Given the description of an element on the screen output the (x, y) to click on. 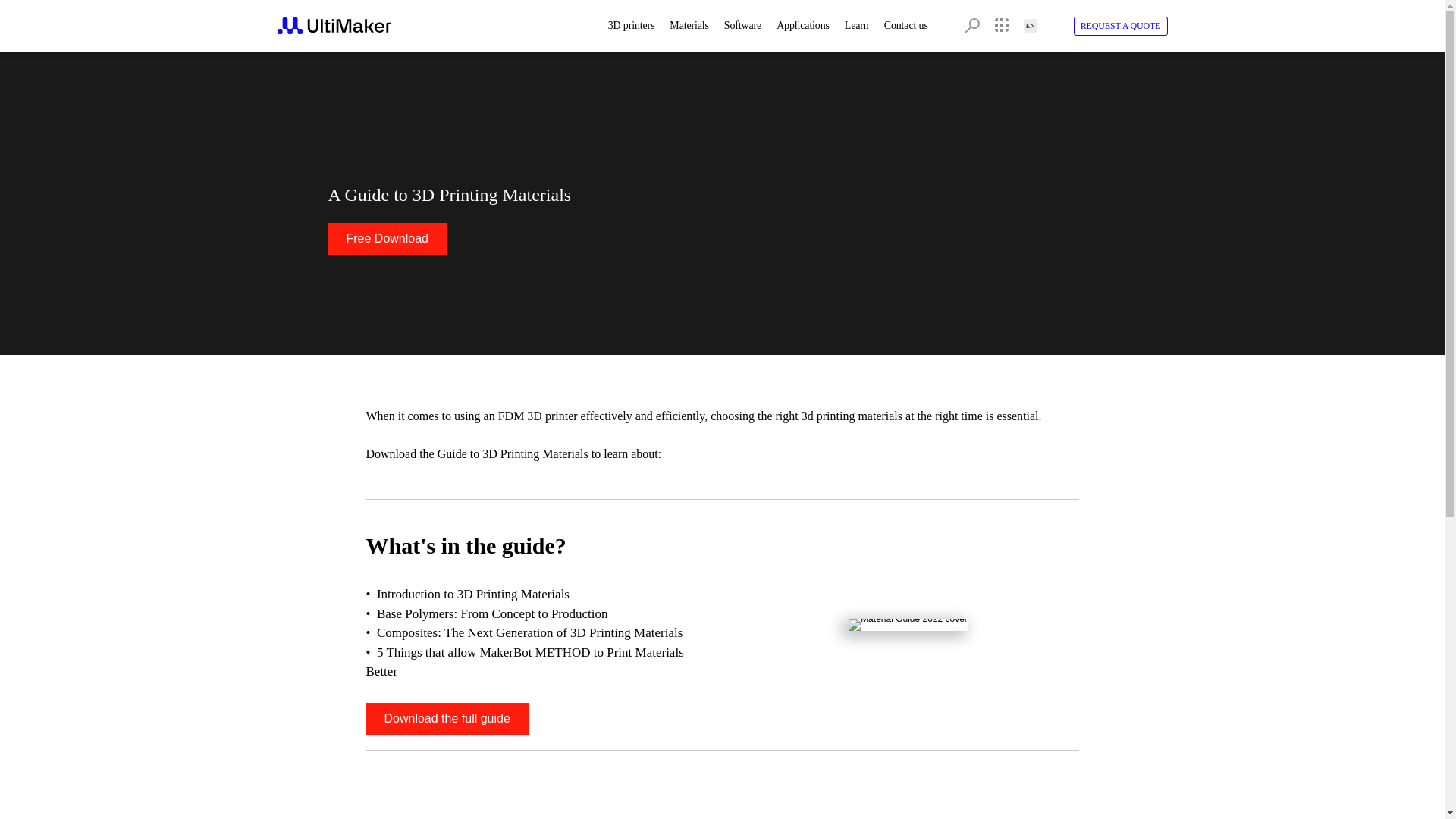
Materials (689, 25)
Software (742, 25)
3D printers (630, 25)
Material Guide 2022 cover (908, 624)
